Given the description of an element on the screen output the (x, y) to click on. 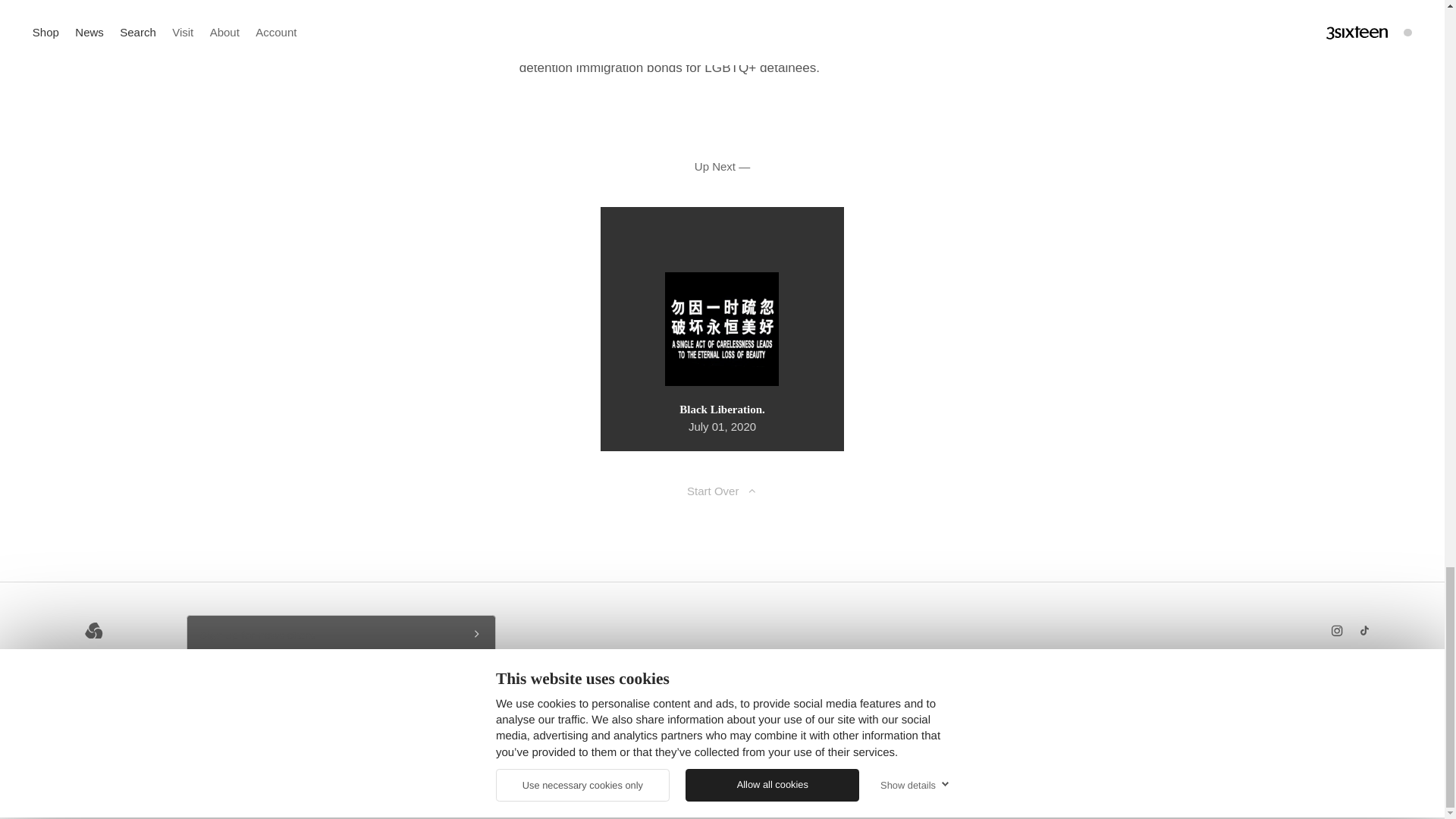
enable (619, 786)
